Given the description of an element on the screen output the (x, y) to click on. 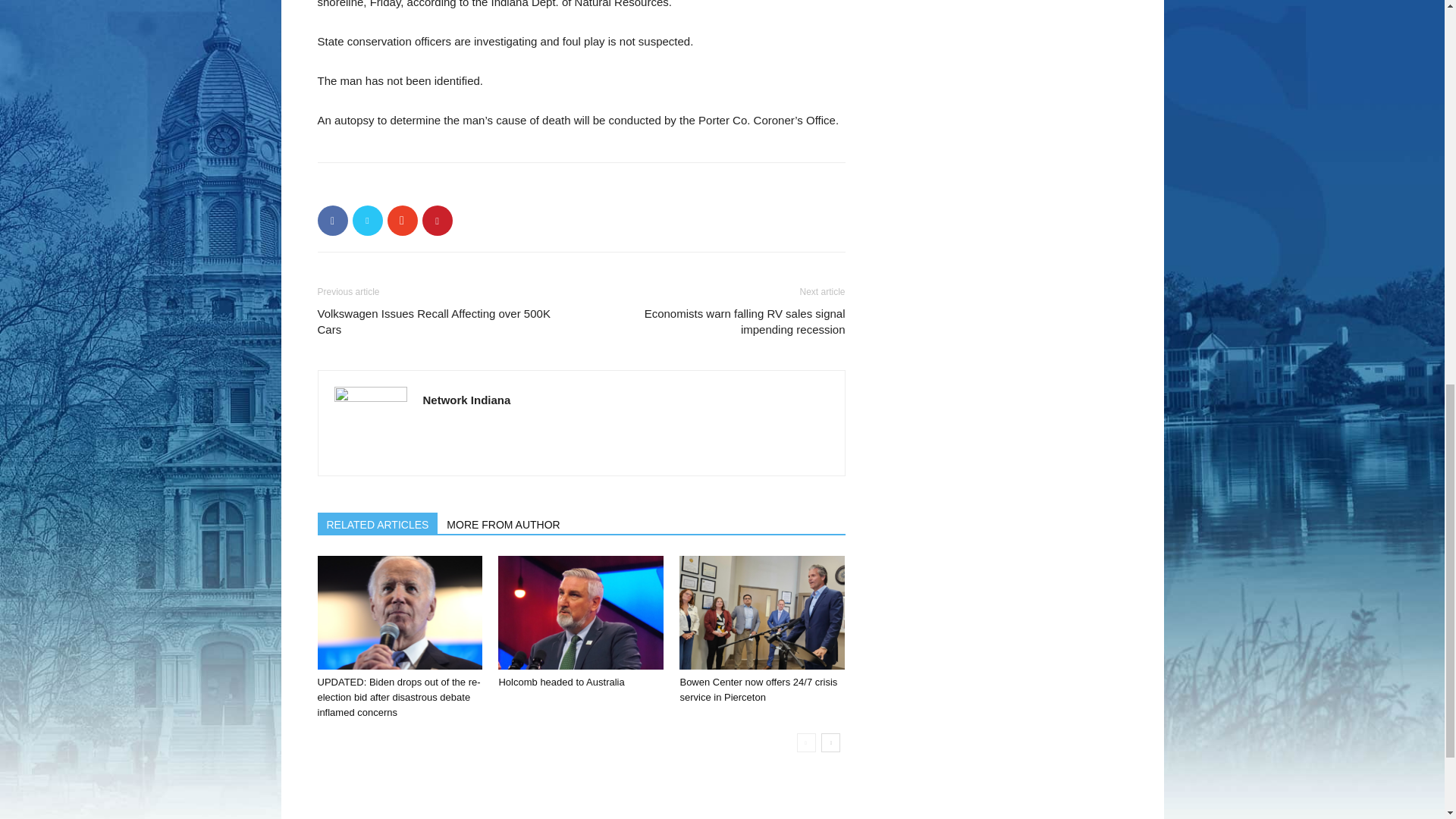
Holcomb headed to Australia (580, 612)
